Given the description of an element on the screen output the (x, y) to click on. 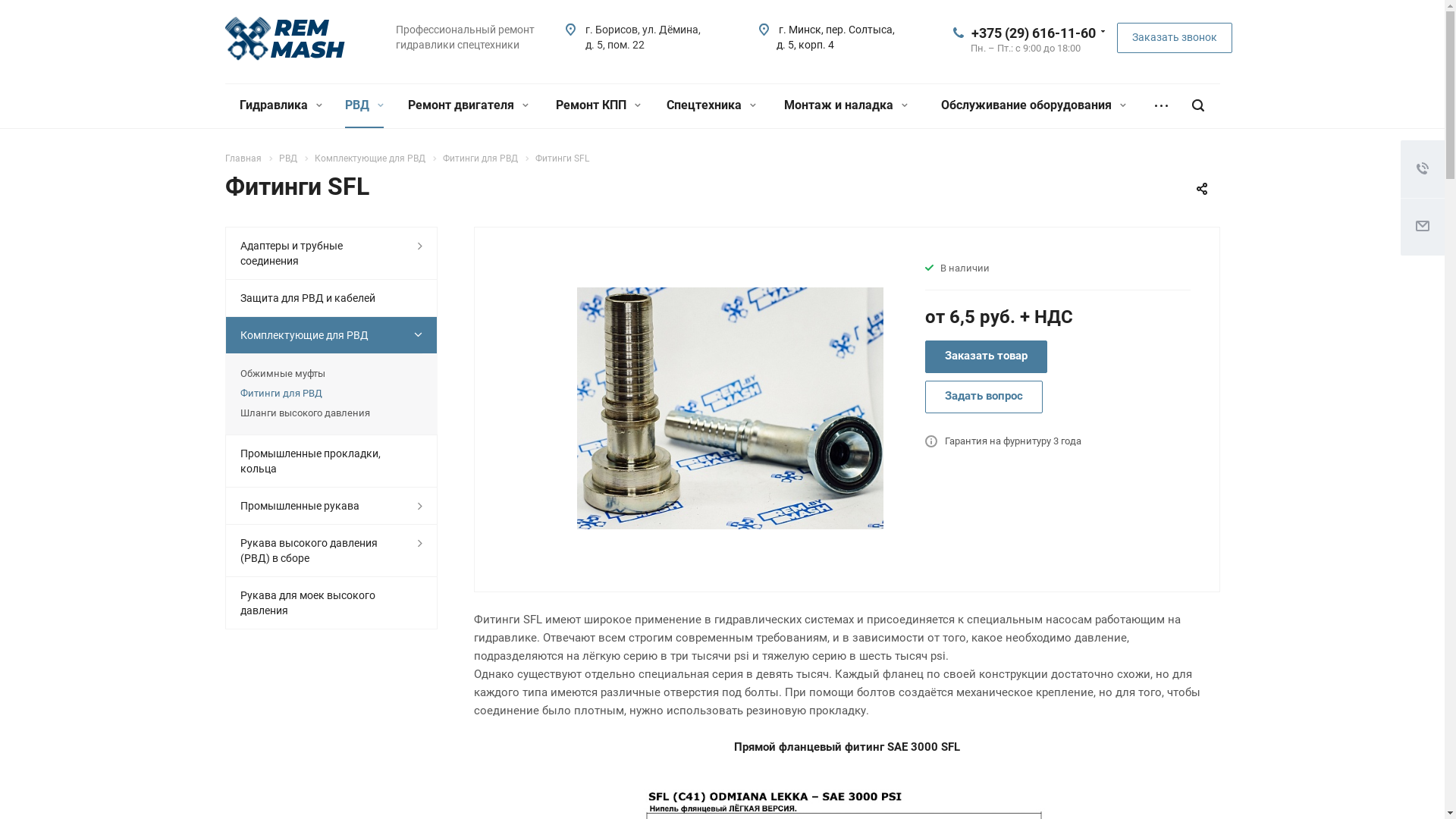
+375 (29) 616-11-60 Element type: text (1032, 32)
